Given the description of an element on the screen output the (x, y) to click on. 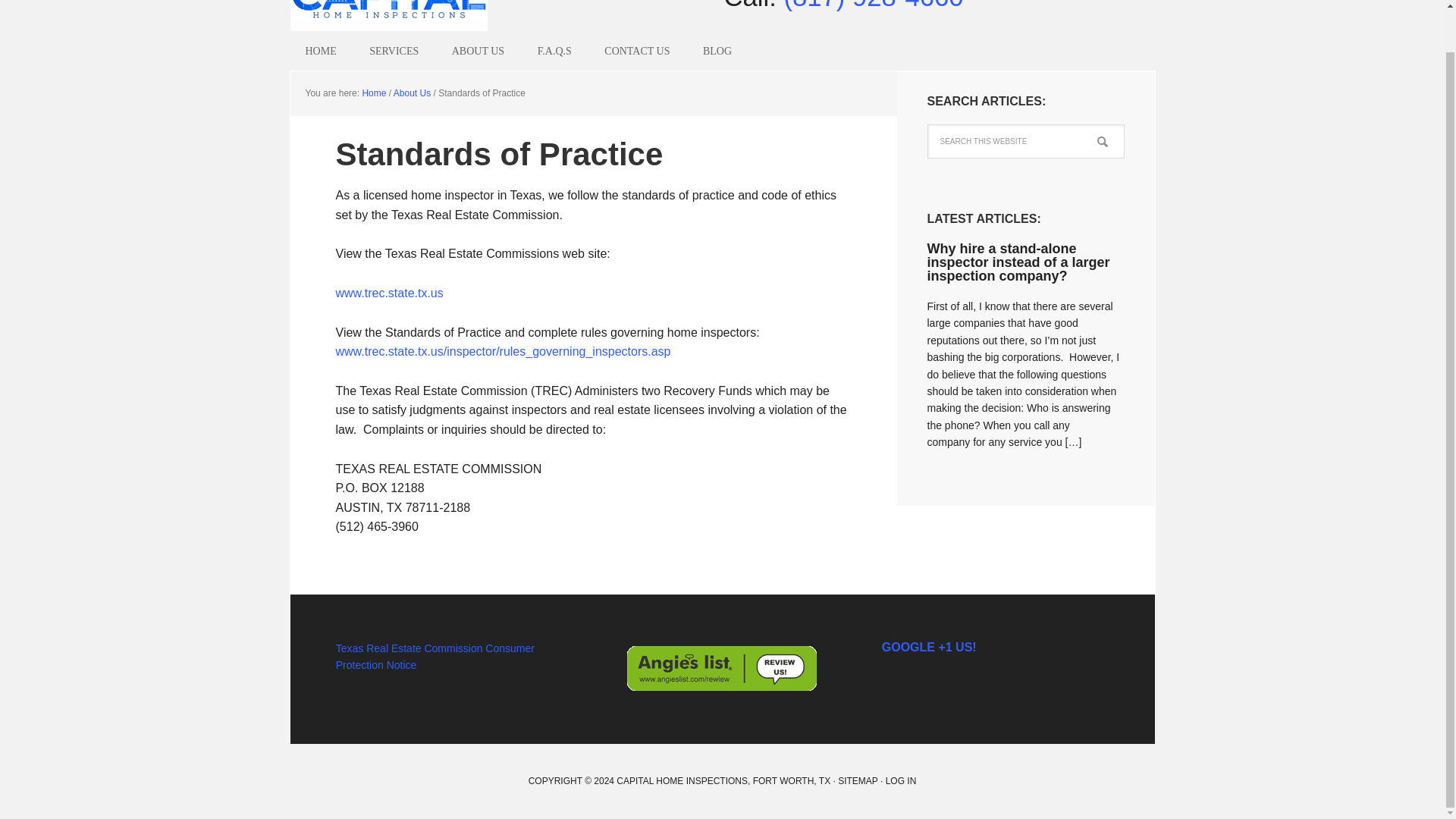
F.A.Q.S (554, 51)
Texas Real Estate Commission Consumer Protection Notice (435, 656)
About Us (411, 92)
CONTACT US (636, 51)
www.trec.state.tx.us (388, 292)
BLOG (716, 51)
Home (373, 92)
LOG IN (901, 780)
HOME (319, 51)
ABOUT US (477, 51)
SERVICES (393, 51)
